Given the description of an element on the screen output the (x, y) to click on. 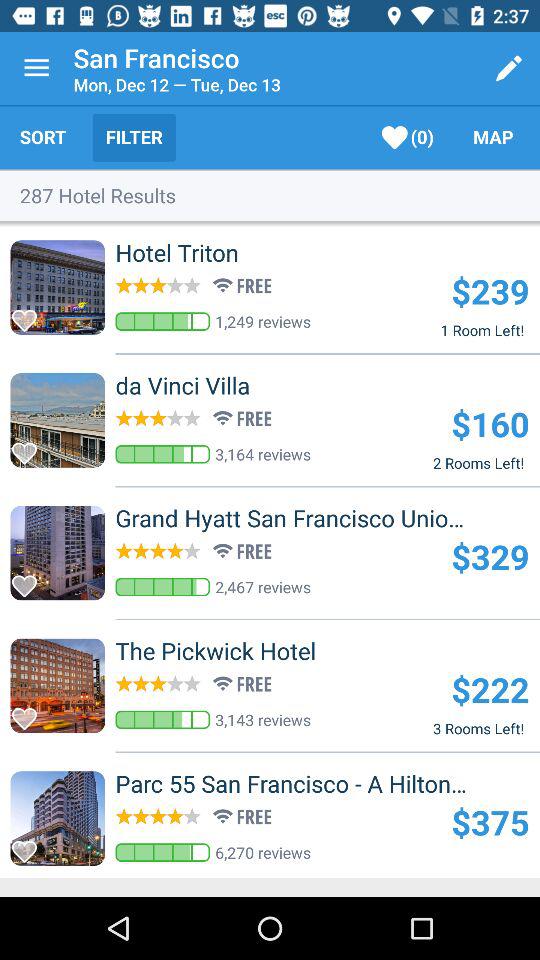
favorite this (30, 447)
